Given the description of an element on the screen output the (x, y) to click on. 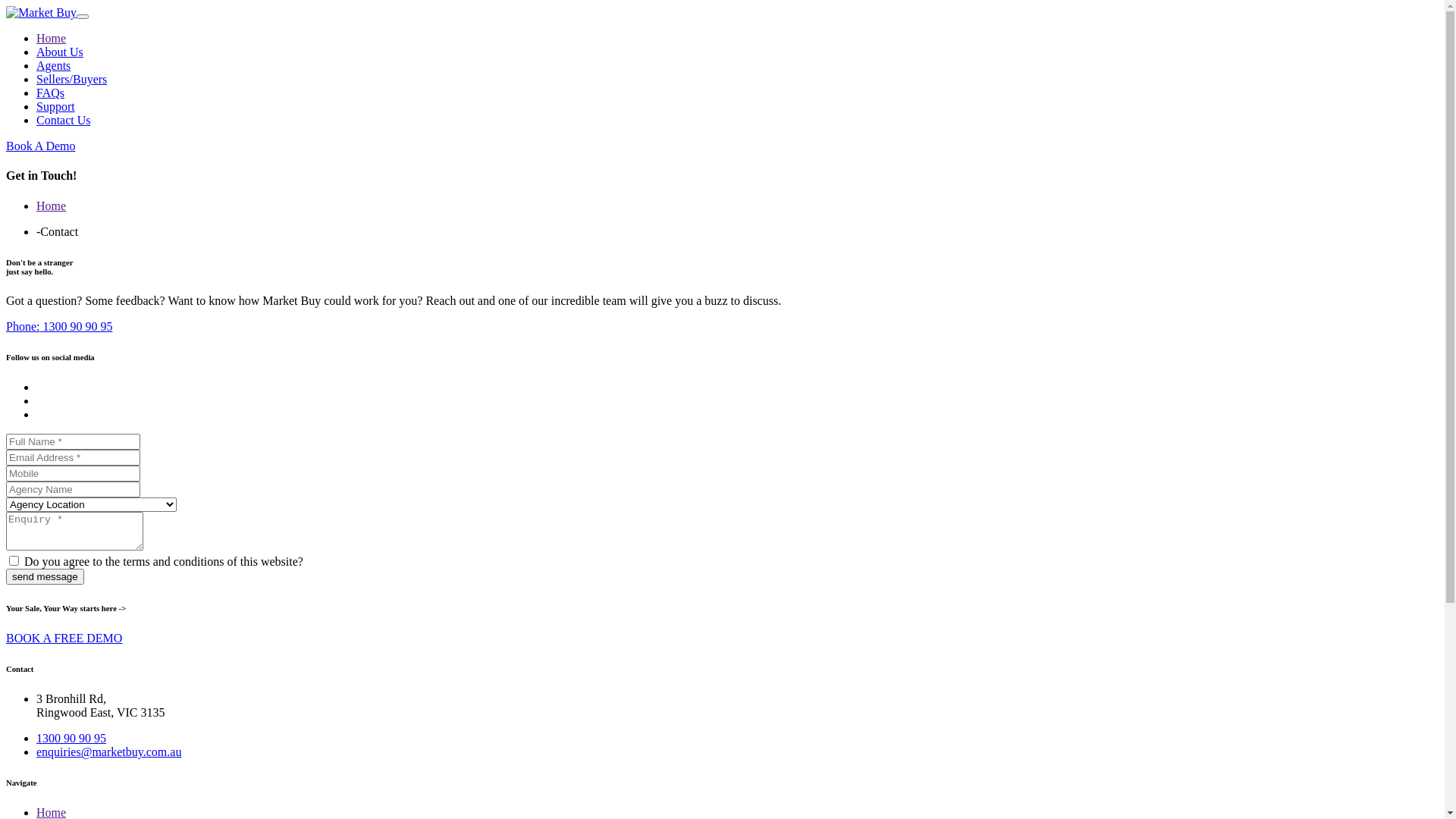
Home Element type: text (50, 37)
Support Element type: text (55, 106)
Phone: 1300 90 90 95 Element type: text (59, 326)
Home Element type: text (50, 205)
Market Buy Element type: hover (41, 12)
Book A Demo Element type: text (40, 145)
FAQs Element type: text (50, 92)
send message Element type: text (45, 576)
About Us Element type: text (59, 51)
BOOK A FREE DEMO Element type: text (64, 637)
1300 90 90 95 Element type: text (71, 737)
Agents Element type: text (53, 65)
Sellers/Buyers Element type: text (71, 78)
Contact Us Element type: text (63, 119)
enquiries@marketbuy.com.au Element type: text (108, 751)
